Given the description of an element on the screen output the (x, y) to click on. 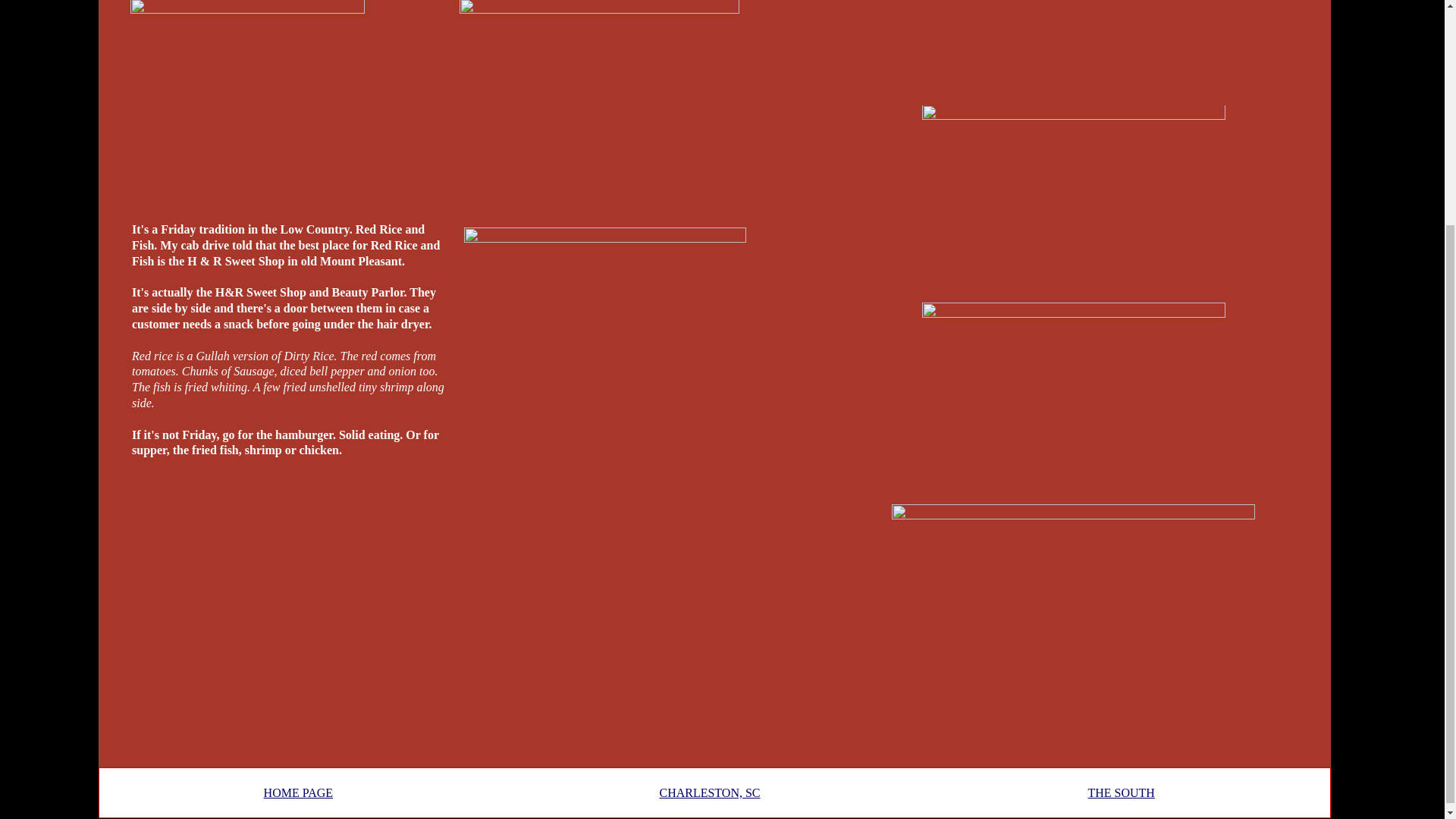
HOME PAGE (298, 792)
CHARLESTON, SC (709, 792)
HRSweet-History (1073, 631)
THE SOUTH (1121, 792)
HRSweet-Sign (1073, 50)
HRSweet-Menu (604, 364)
HRSweet-RedRiceFish (248, 104)
HRSweet-Counter (599, 104)
HRSweet-Bldg (1073, 201)
HRSweet-TraditionSign (1073, 400)
